Given the description of an element on the screen output the (x, y) to click on. 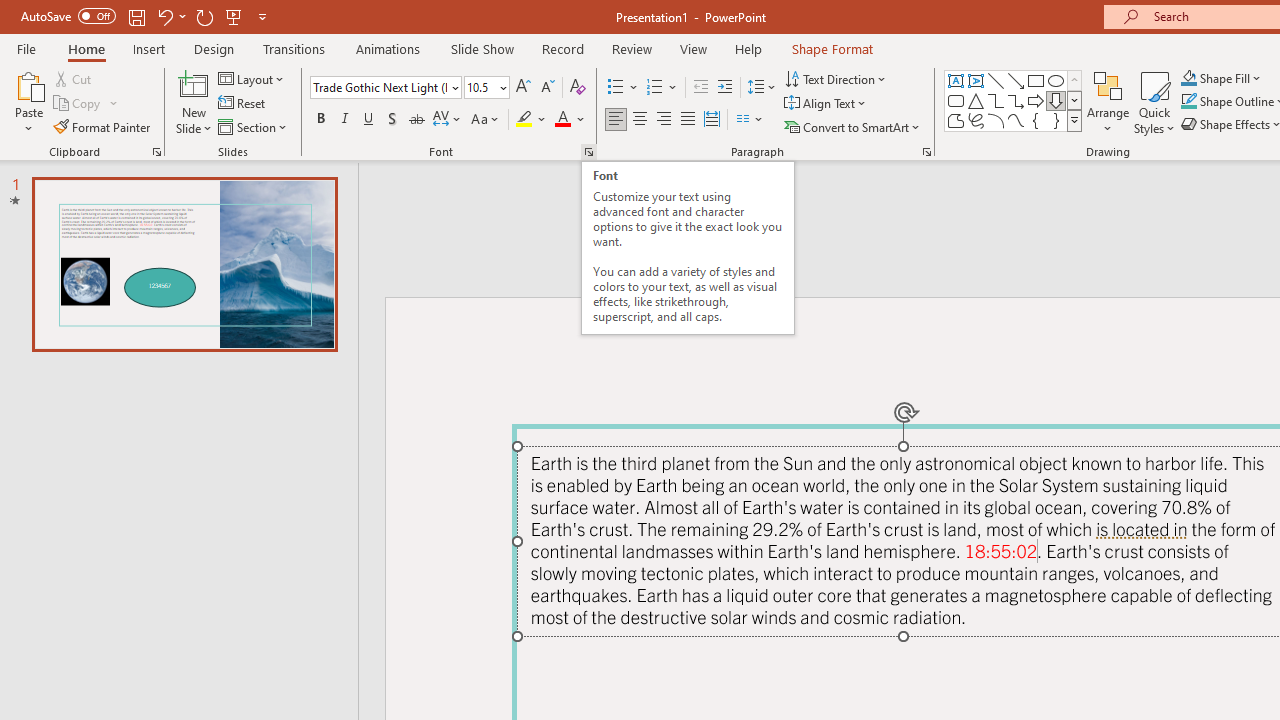
Italic (344, 119)
Left Brace (1035, 120)
Format Painter (103, 126)
Font (379, 87)
Reset (243, 103)
Copy (78, 103)
Shapes (1074, 120)
Align Text (826, 103)
Line (995, 80)
Numbering (661, 87)
Rectangle (1035, 80)
Quick Styles (1154, 102)
Right Brace (1055, 120)
Arrange (1108, 102)
